Given the description of an element on the screen output the (x, y) to click on. 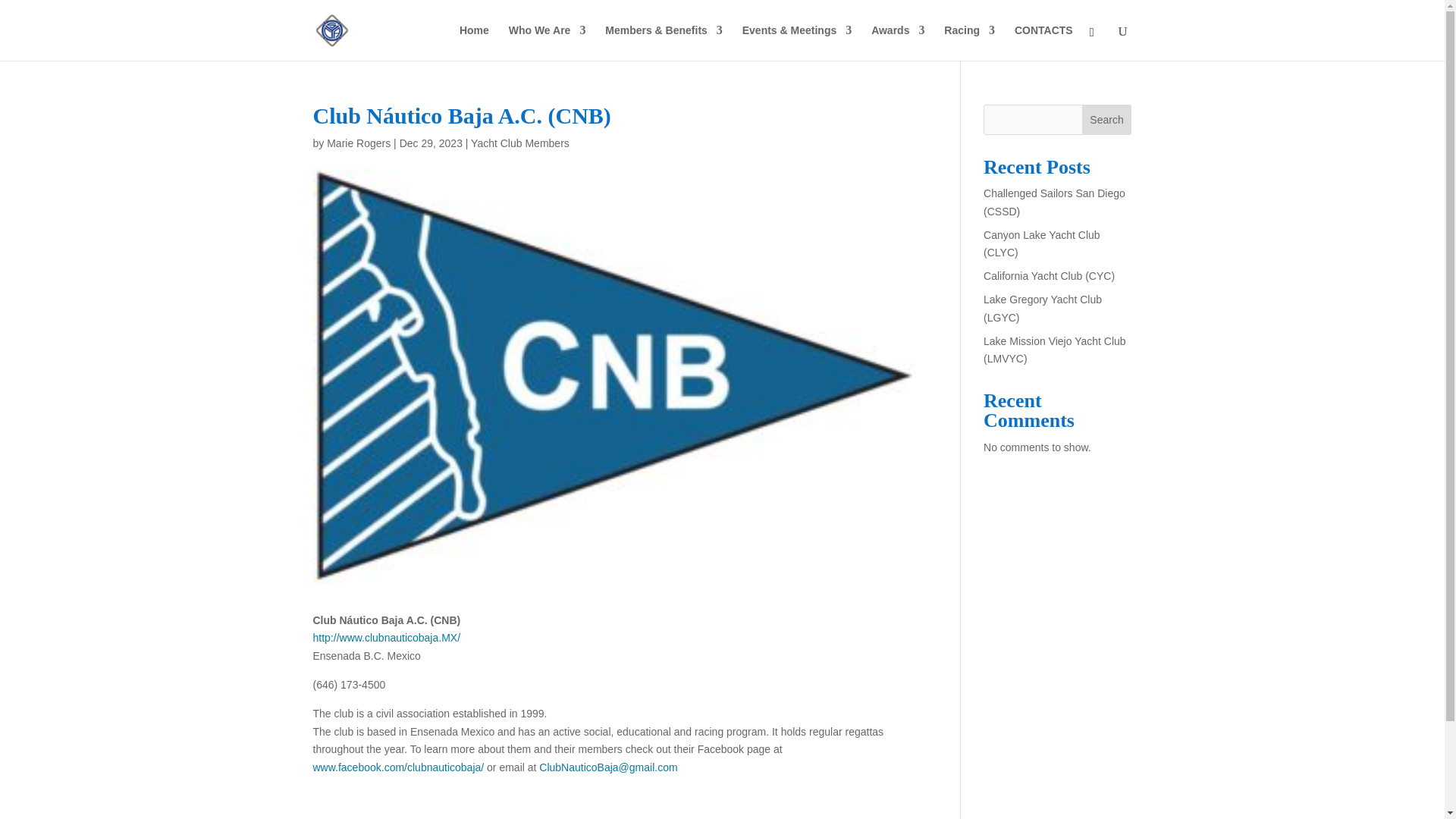
Who We Are (547, 42)
Posts by Marie Rogers (358, 143)
Racing (968, 42)
Awards (897, 42)
CONTACTS (1043, 42)
